Given the description of an element on the screen output the (x, y) to click on. 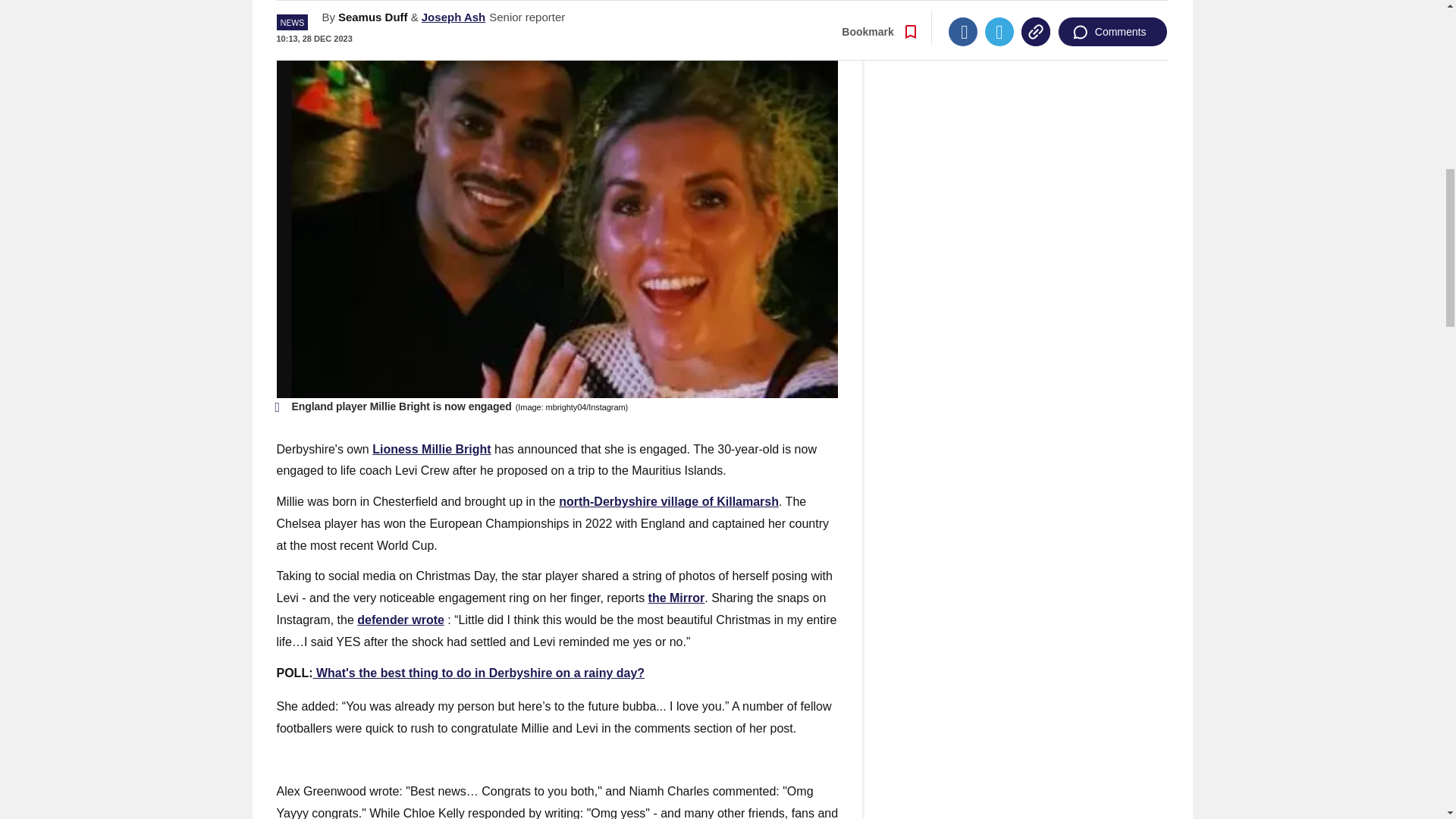
Go (730, 2)
